Given the description of an element on the screen output the (x, y) to click on. 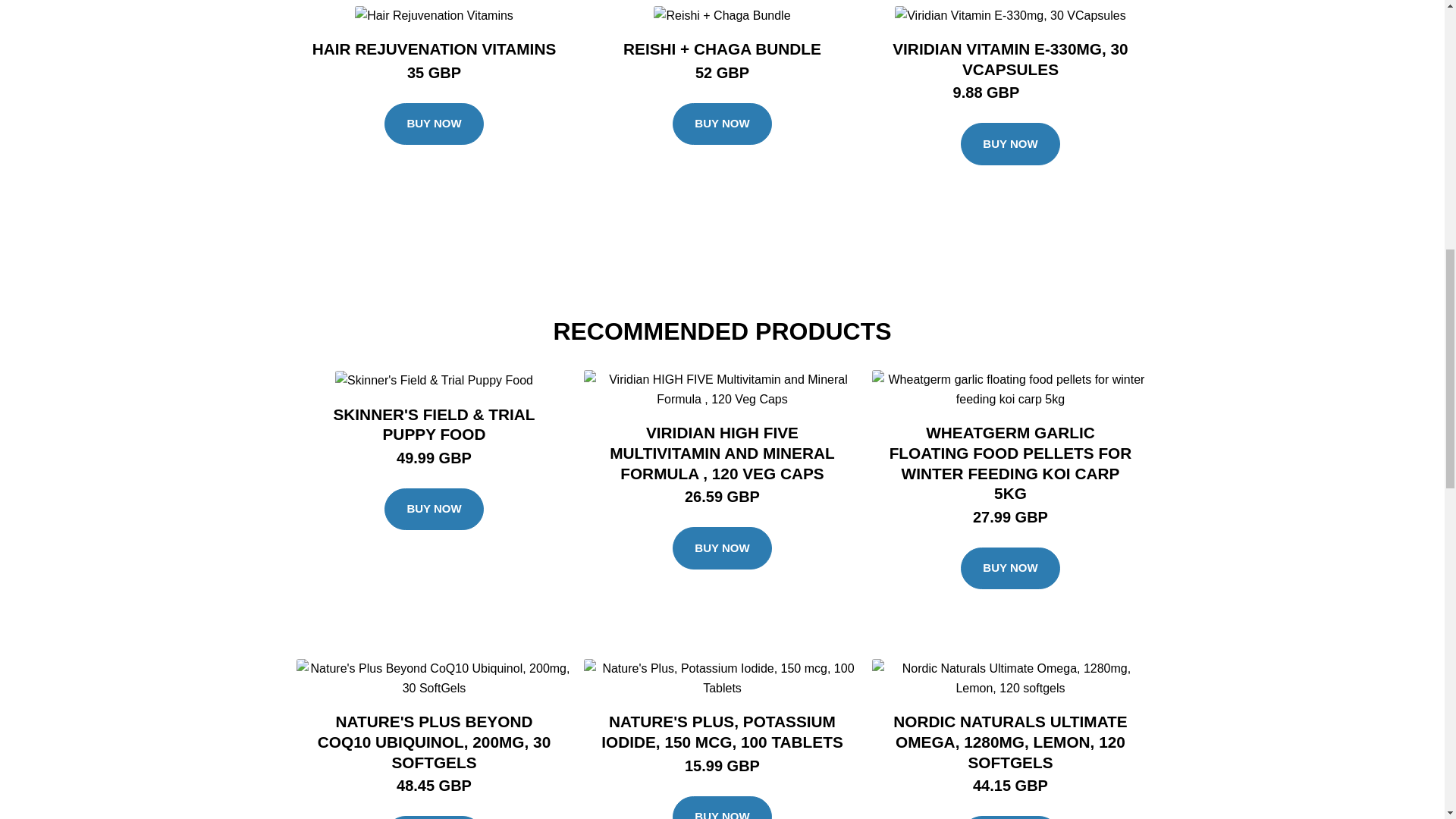
HAIR REJUVENATION VITAMINS (434, 48)
BUY NOW (1009, 143)
BUY NOW (721, 124)
VIRIDIAN VITAMIN E-330MG, 30 VCAPSULES (1009, 58)
BUY NOW (433, 817)
BUY NOW (433, 509)
BUY NOW (433, 124)
NATURE'S PLUS BEYOND COQ10 UBIQUINOL, 200MG, 30 SOFTGELS (433, 741)
NATURE'S PLUS, POTASSIUM IODIDE, 150 MCG, 100 TABLETS (722, 731)
BUY NOW (721, 548)
BUY NOW (721, 807)
BUY NOW (1009, 568)
